Given the description of an element on the screen output the (x, y) to click on. 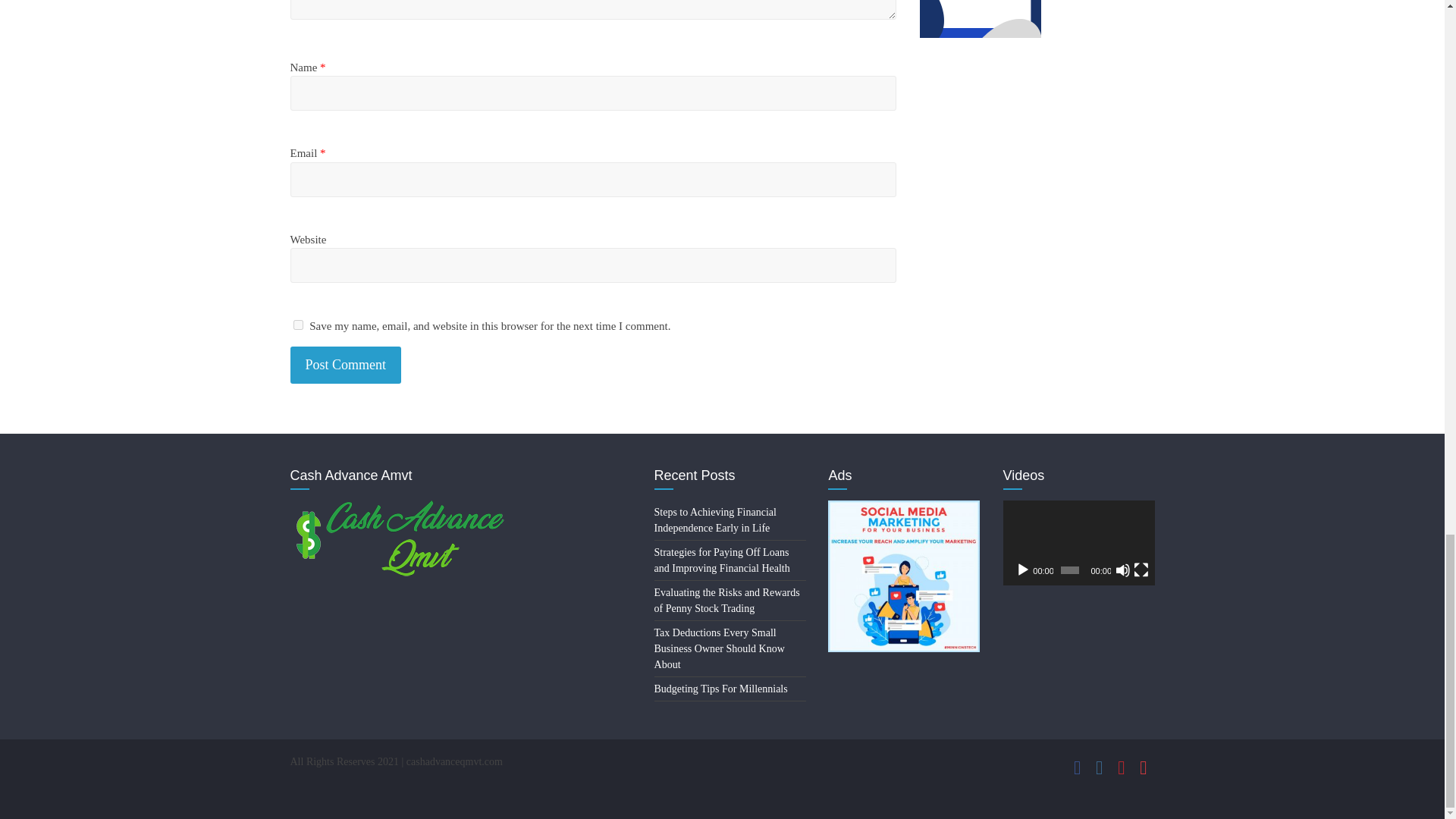
yes (297, 325)
Post Comment (345, 365)
Post Comment (345, 365)
